Given the description of an element on the screen output the (x, y) to click on. 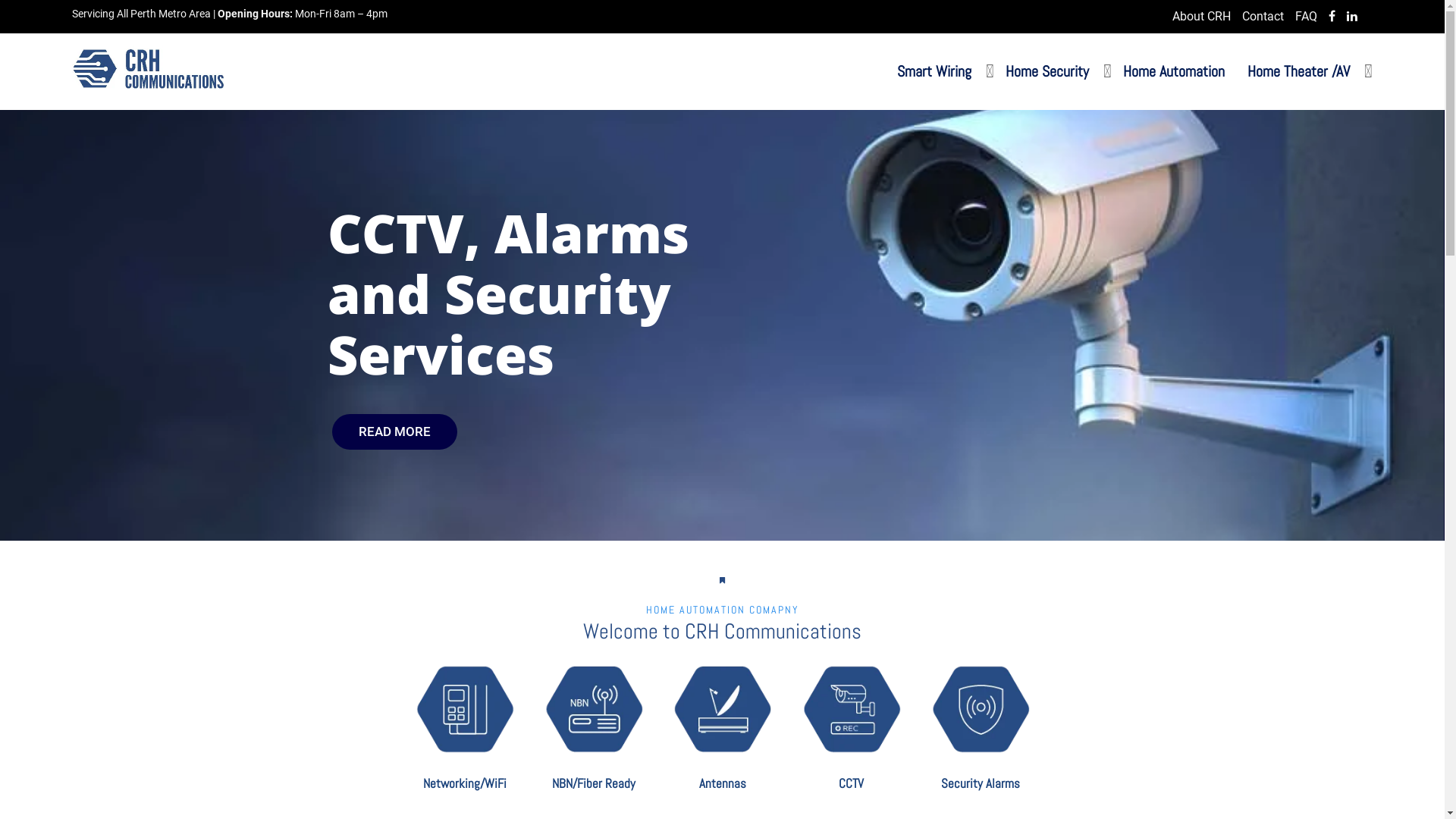
Contact Element type: text (1262, 16)
FAQ Element type: text (1306, 16)
Antennas Element type: text (722, 783)
Smart Wiring Element type: text (933, 71)
Facebook Element type: hover (1331, 16)
CCTV Element type: text (850, 783)
Home Security Element type: text (1047, 71)
LinkedIn Element type: hover (1351, 16)
Security Alarms Element type: text (979, 783)
About CRH Element type: text (1201, 16)
Home Theater /AV Element type: text (1298, 71)
Home Automation Element type: text (1173, 71)
Networking/WiFi Element type: text (464, 783)
NBN/Fiber Ready Element type: text (593, 783)
